Given the description of an element on the screen output the (x, y) to click on. 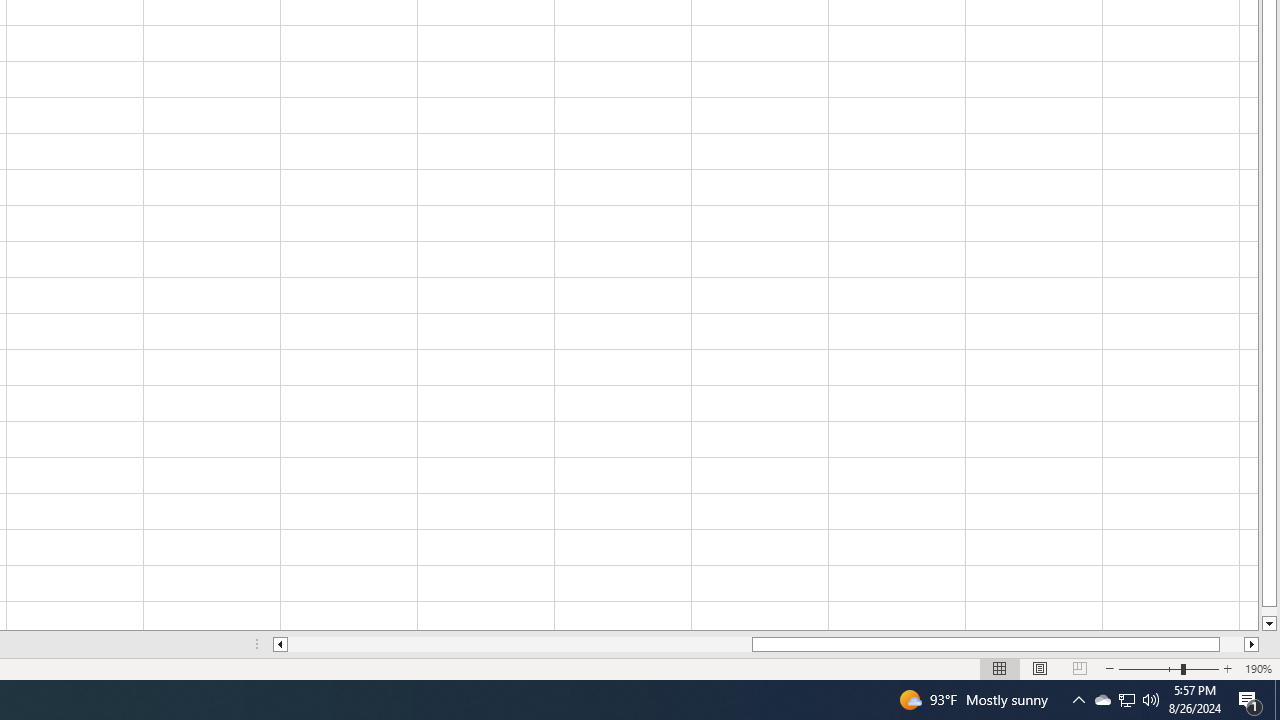
Page Layout (1039, 668)
Column left (279, 644)
Zoom In (1227, 668)
Class: NetUIScrollBar (765, 644)
Page down (1268, 611)
Zoom (1168, 668)
Column right (1252, 644)
Page right (1231, 644)
Line down (1268, 624)
Zoom Out (1149, 668)
Page left (520, 644)
Page Break Preview (1079, 668)
Normal (1000, 668)
